Given the description of an element on the screen output the (x, y) to click on. 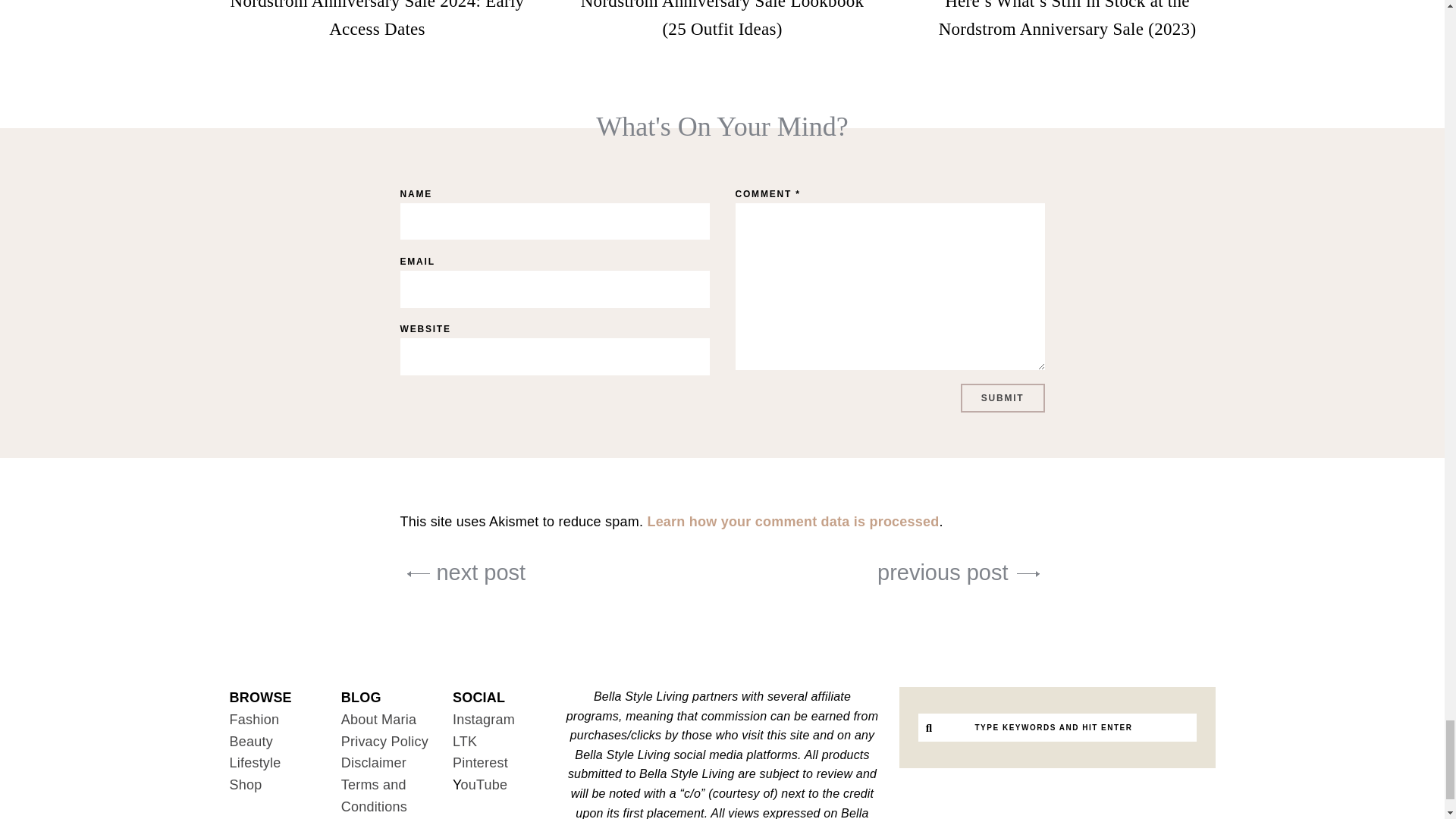
Submit (1002, 398)
Type keywords and hit enter (1053, 727)
Type keywords and hit enter (1053, 727)
